Given the description of an element on the screen output the (x, y) to click on. 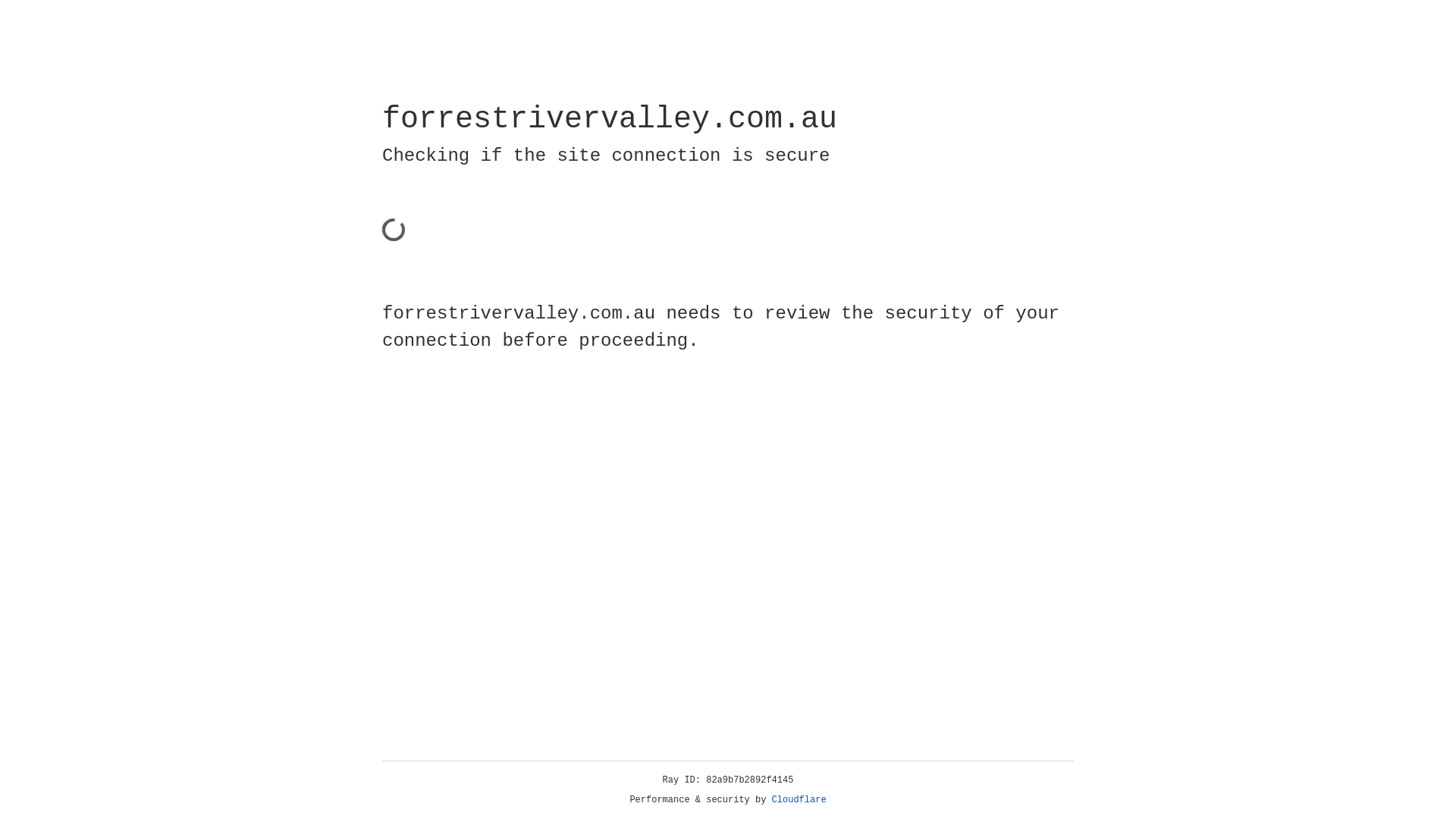
Cloudflare Element type: text (798, 799)
